Given the description of an element on the screen output the (x, y) to click on. 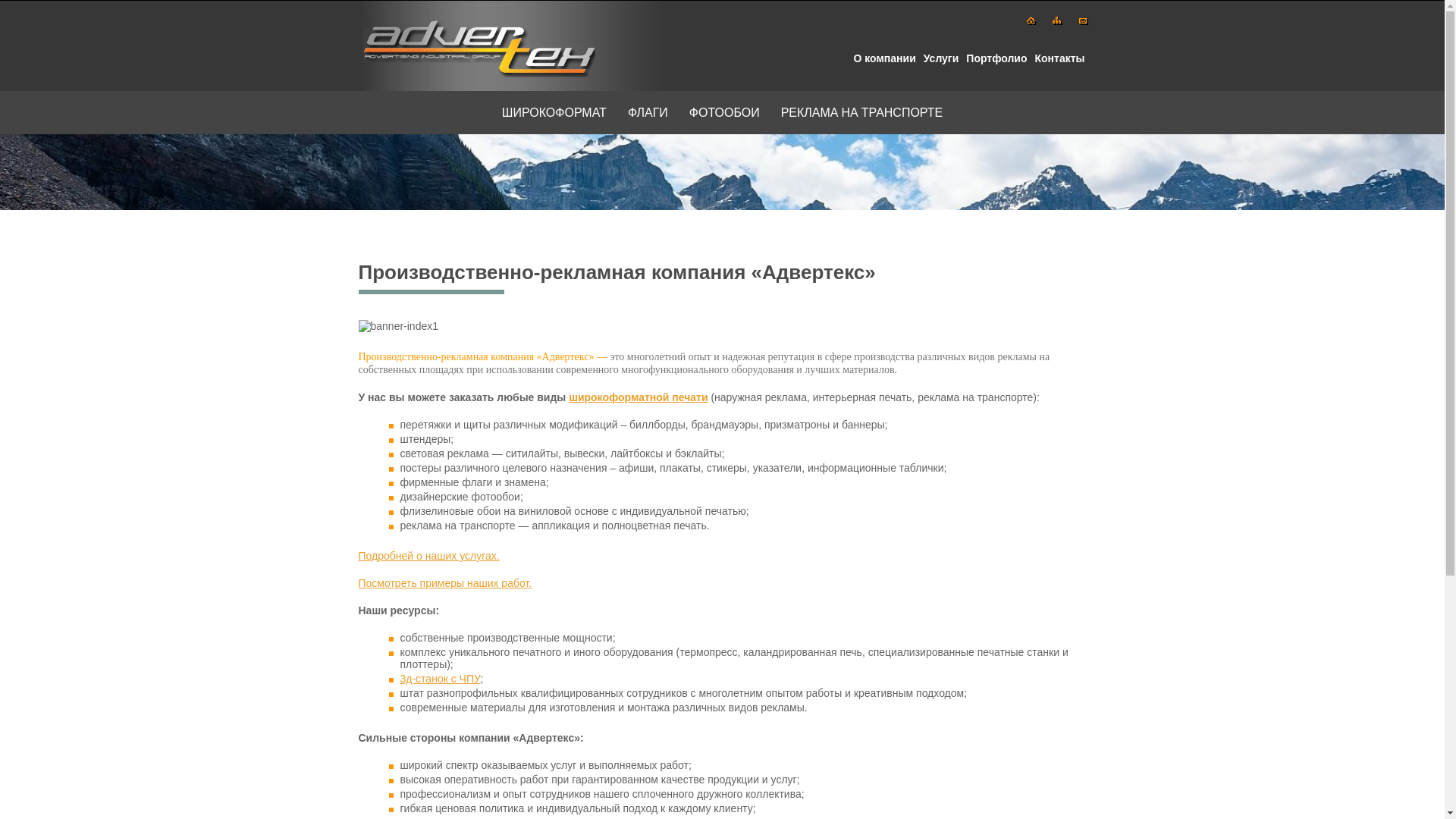
Skip to content Element type: text (335, 90)
